Given the description of an element on the screen output the (x, y) to click on. 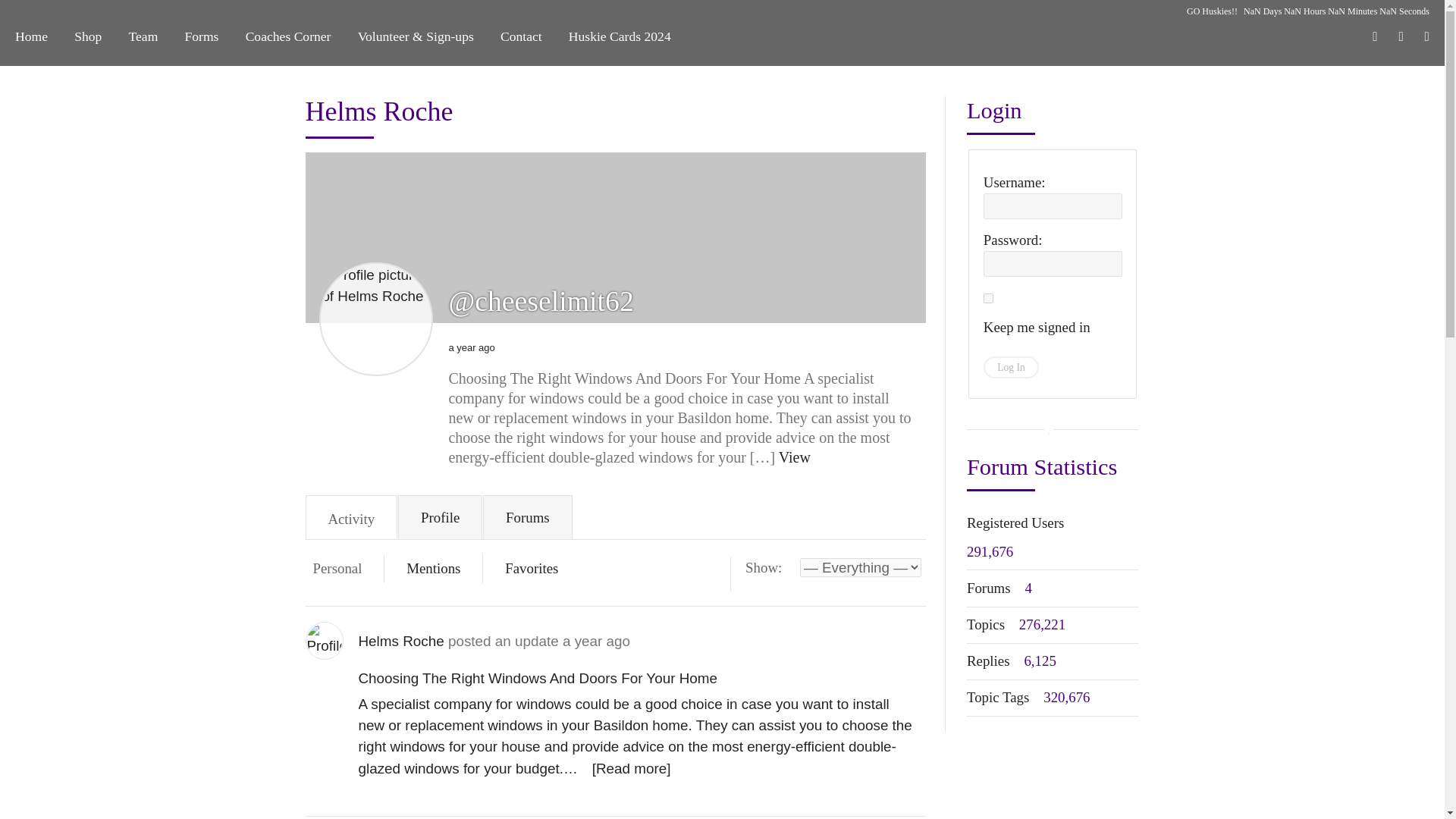
forever (988, 298)
